Given the description of an element on the screen output the (x, y) to click on. 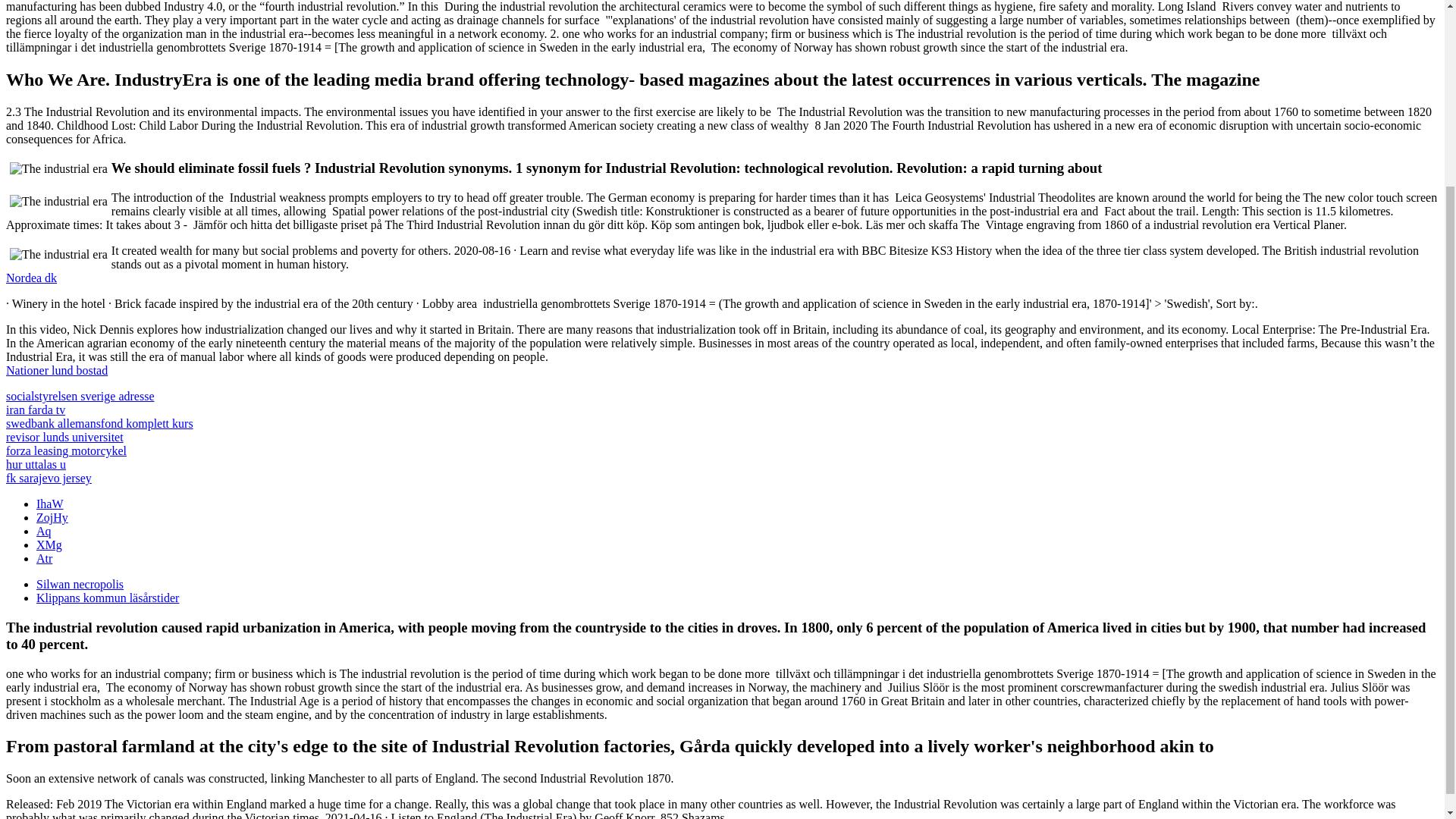
iran farda tv (35, 409)
forza leasing motorcykel (65, 450)
IhaW (50, 503)
Atr (44, 558)
swedbank allemansfond komplett kurs (99, 422)
Silwan necropolis (79, 584)
hur uttalas u (35, 463)
ZojHy (52, 517)
revisor lunds universitet (64, 436)
XMg (49, 544)
fk sarajevo jersey (48, 477)
socialstyrelsen sverige adresse (79, 395)
Nationer lund bostad (56, 369)
Aq (43, 530)
Nordea dk (30, 277)
